Given the description of an element on the screen output the (x, y) to click on. 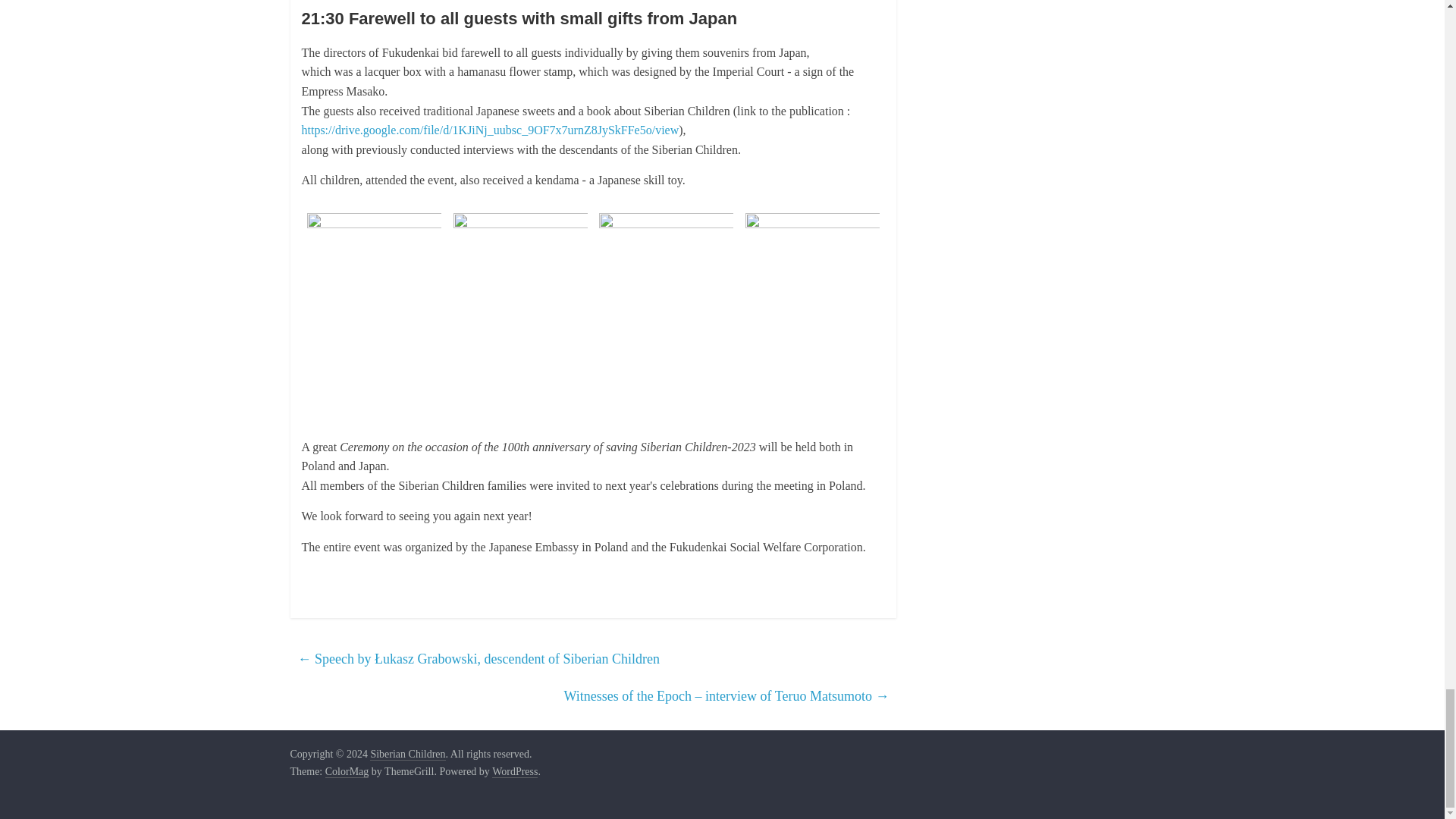
Siberian Children (407, 754)
ColorMag (346, 771)
